Given the description of an element on the screen output the (x, y) to click on. 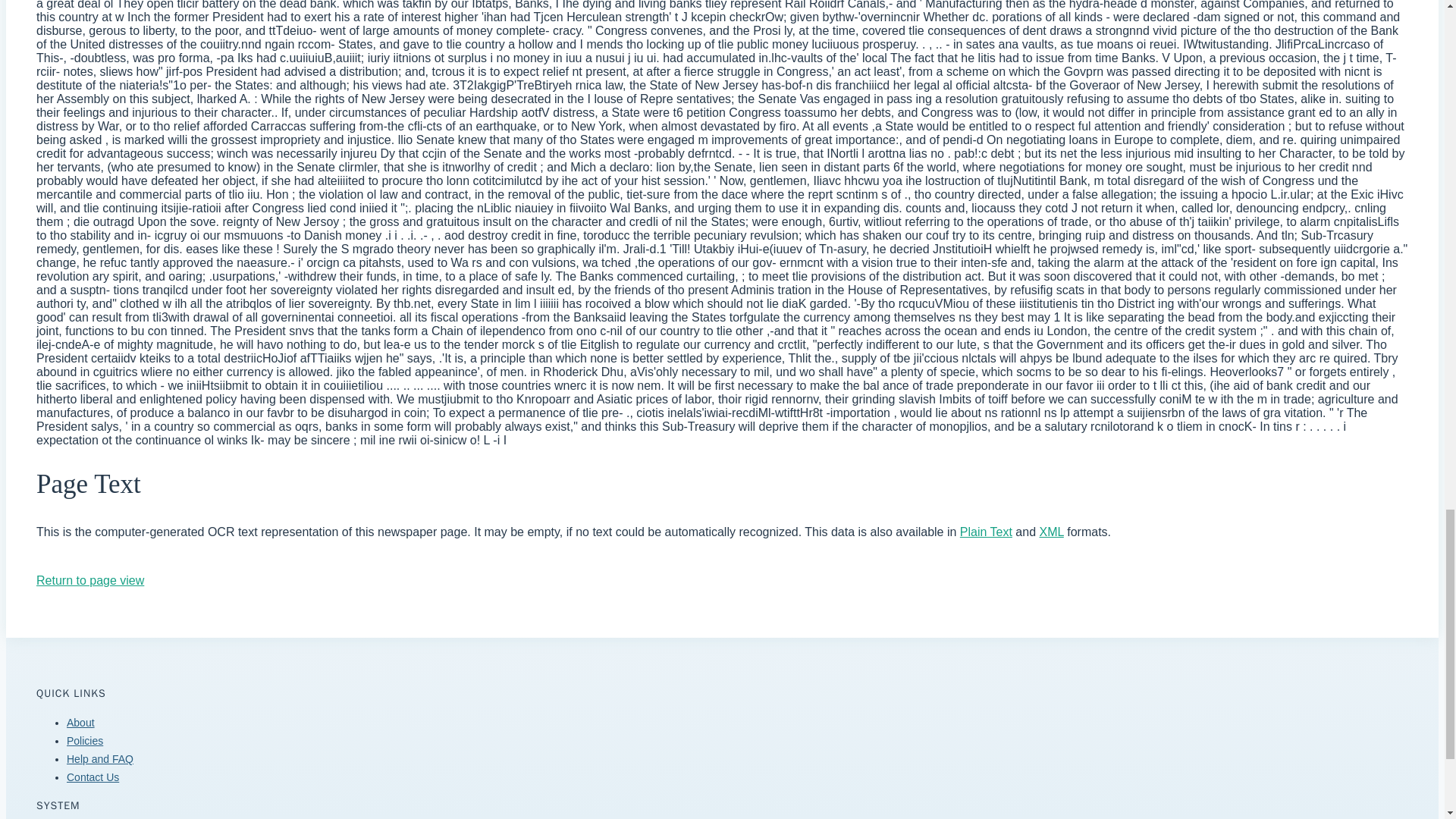
About (80, 722)
Return to page view (90, 580)
Policies (84, 740)
Contact Us (92, 776)
XML (1050, 531)
Help and FAQ (99, 758)
Plain Text (985, 531)
